Given the description of an element on the screen output the (x, y) to click on. 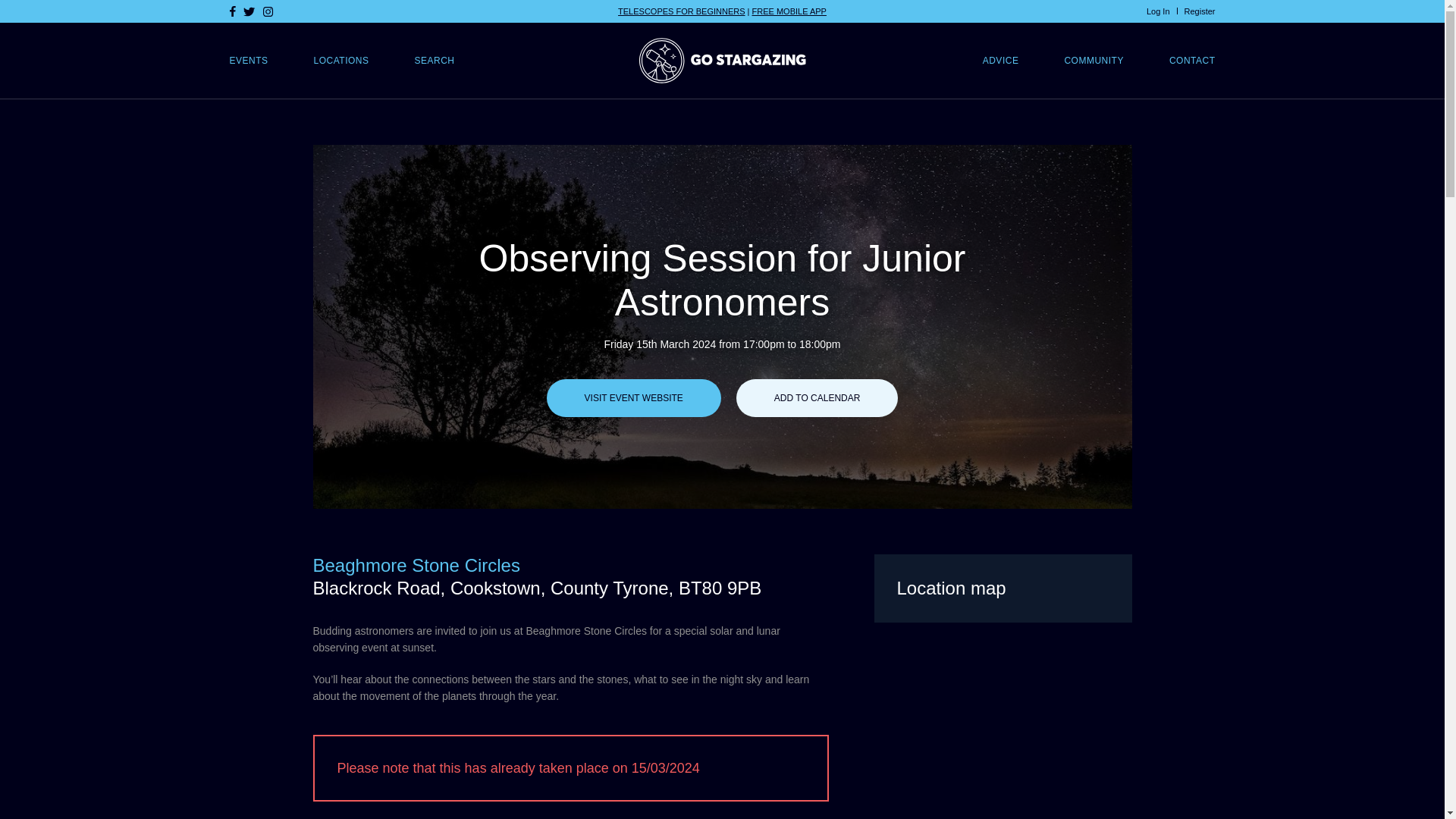
FREE MOBILE APP (789, 11)
Log In (1158, 10)
TELESCOPES FOR BEGINNERS (680, 11)
Twitter (248, 10)
Register (1200, 10)
Instagram (267, 10)
